Given the description of an element on the screen output the (x, y) to click on. 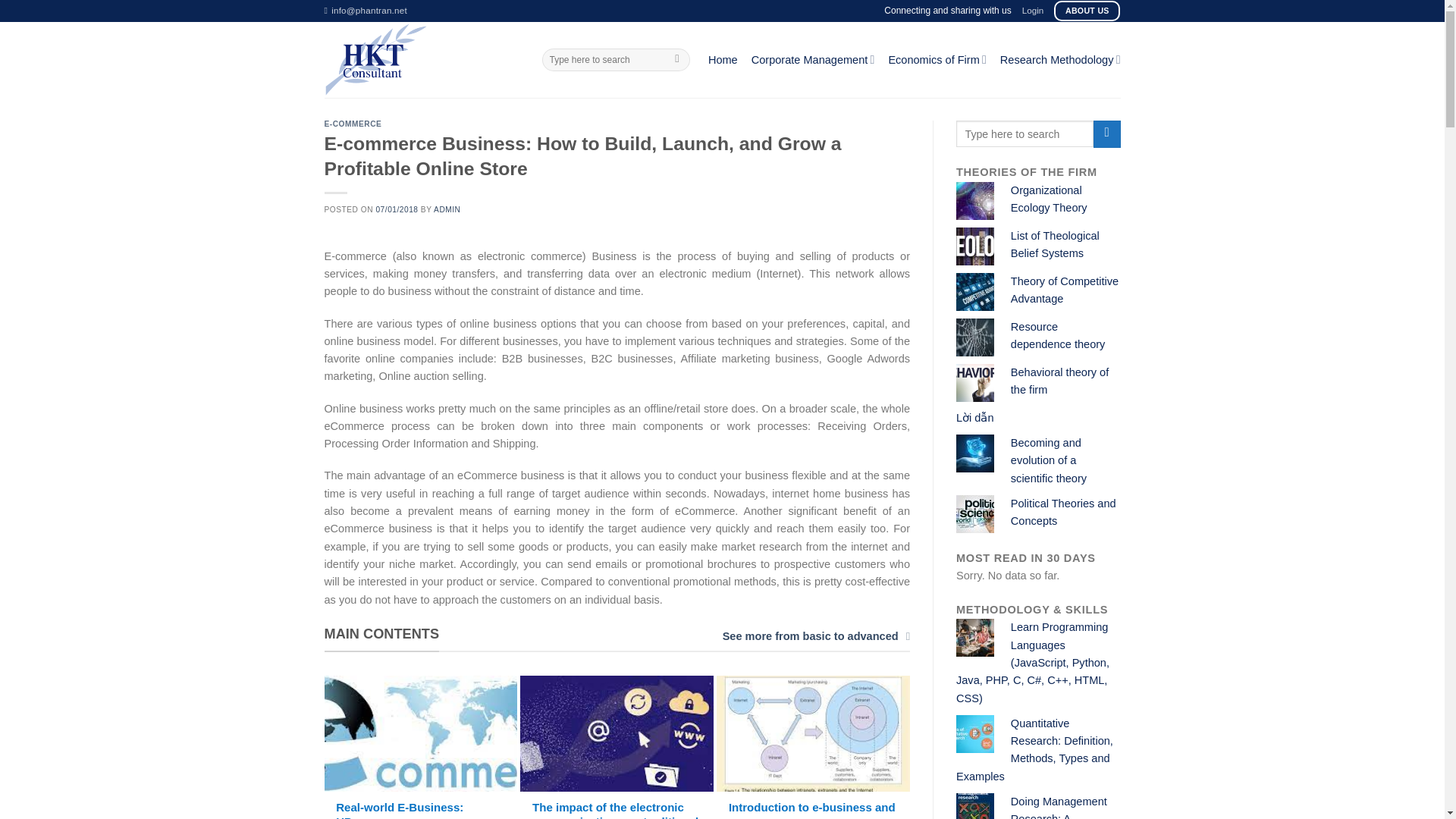
HKT Consultant (421, 59)
Home (722, 59)
Connecting and sharing with us (946, 10)
ABOUT US (1086, 10)
Corporate Management (813, 59)
Login (1032, 11)
